Given the description of an element on the screen output the (x, y) to click on. 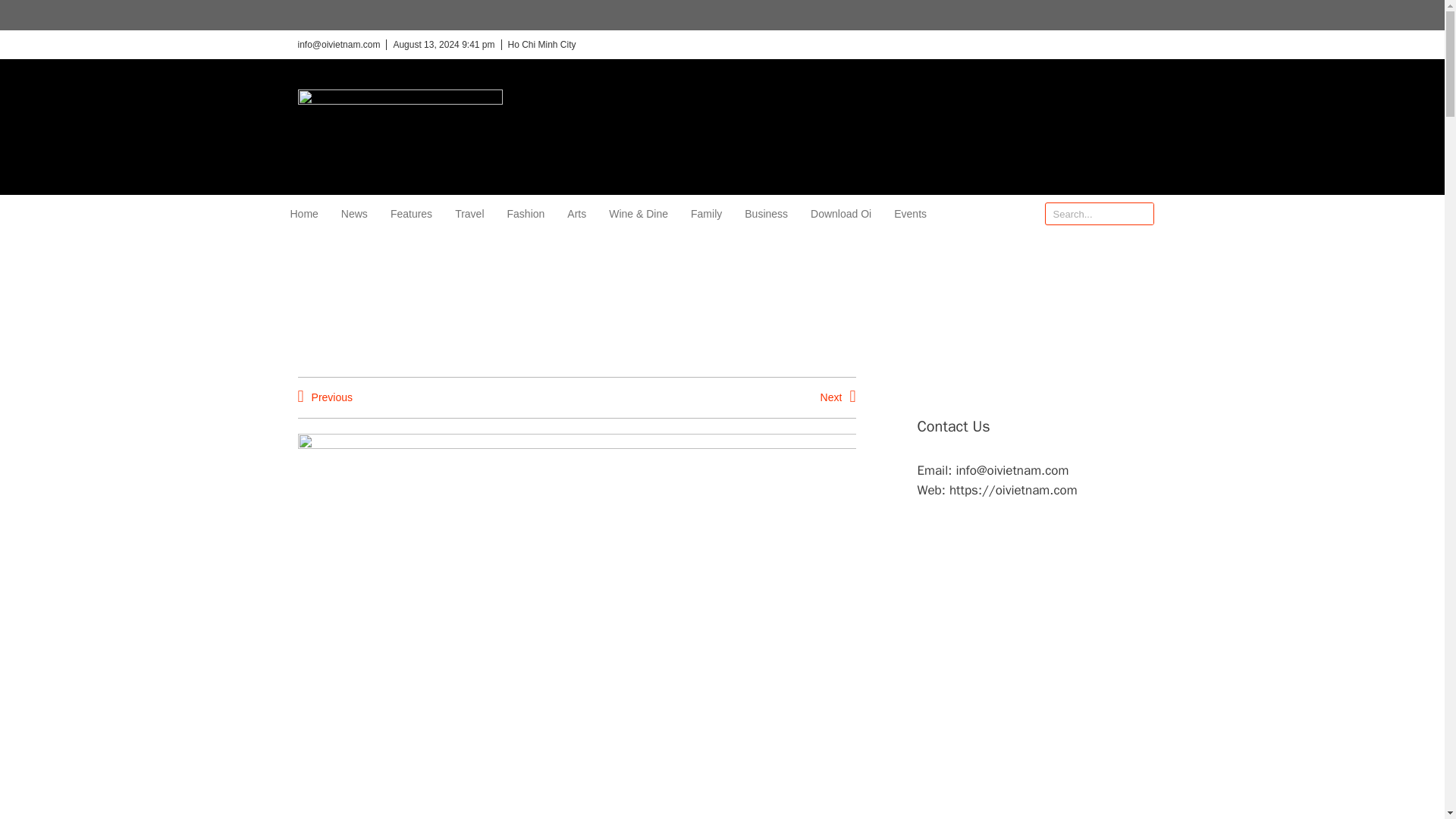
Fashion (525, 213)
Features (411, 213)
Family (706, 213)
Business (765, 213)
